Given the description of an element on the screen output the (x, y) to click on. 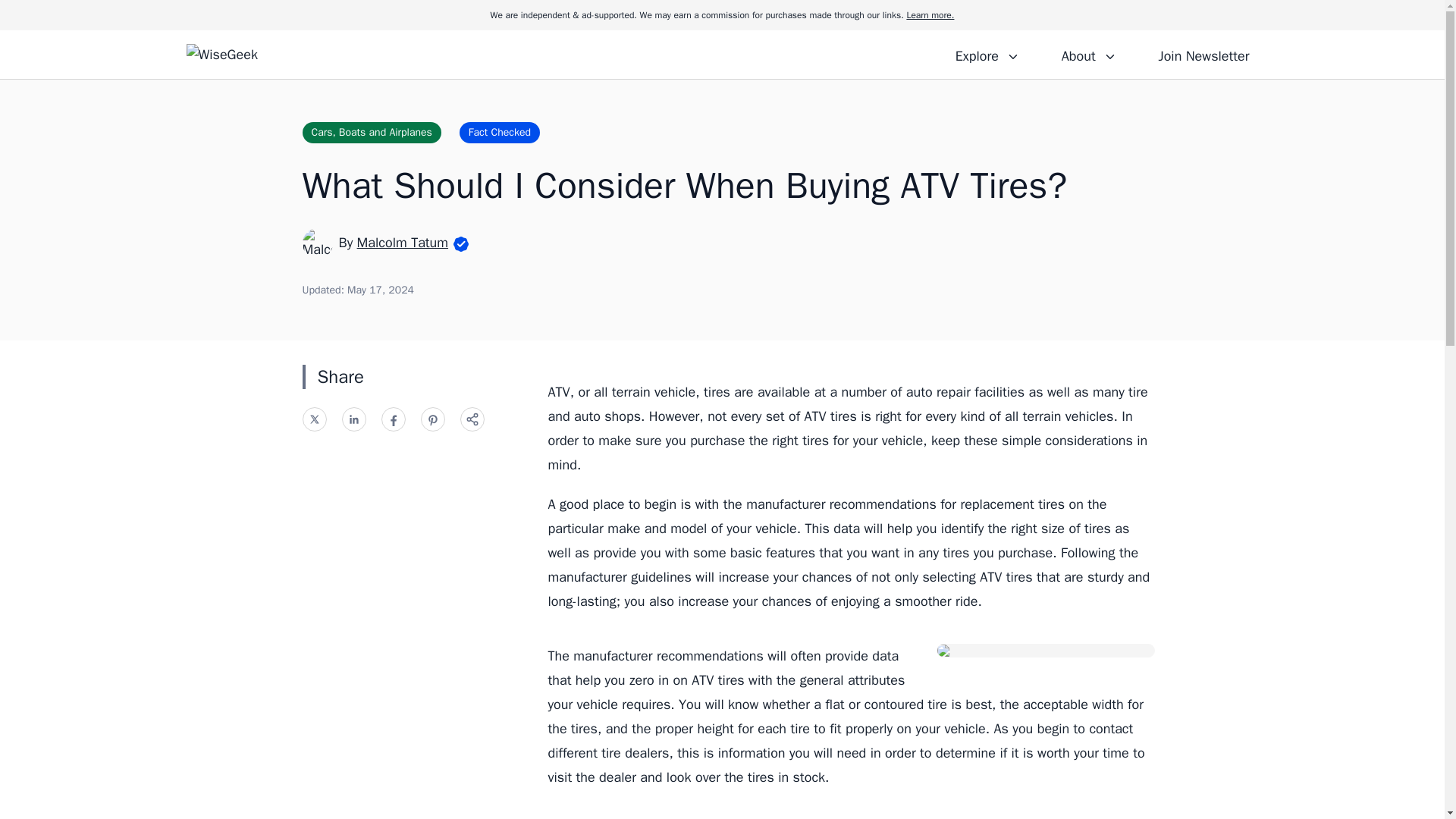
Cars, Boats and Airplanes (371, 132)
Learn more. (929, 15)
Join Newsletter (1202, 54)
Malcolm Tatum (402, 242)
About (1088, 54)
Explore (986, 54)
Fact Checked (500, 132)
